Given the description of an element on the screen output the (x, y) to click on. 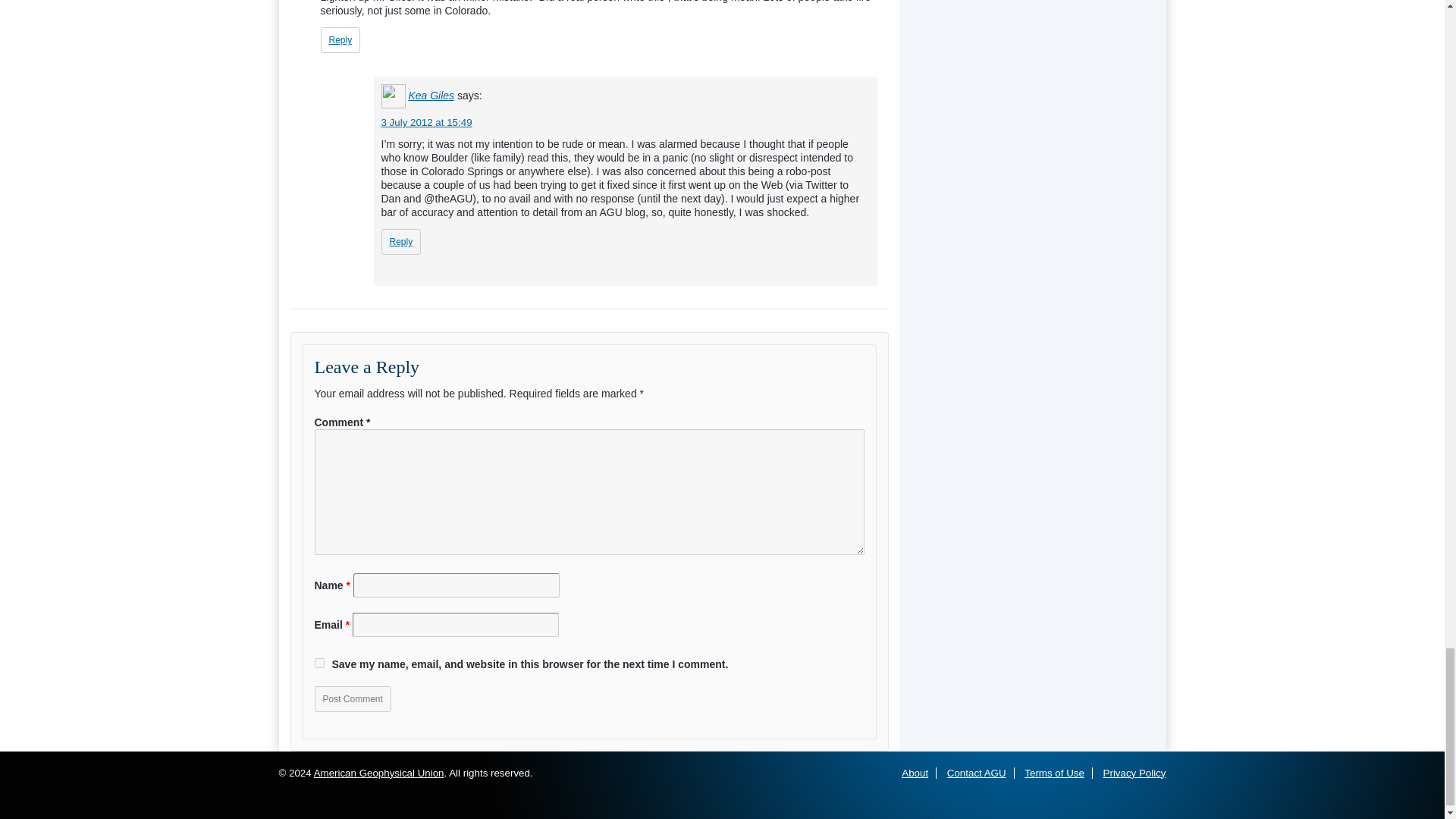
Kea Giles (430, 95)
Post Comment (352, 698)
Reply (400, 241)
3 July 2012 at 15:49 (425, 122)
Reply (339, 40)
yes (318, 663)
